Given the description of an element on the screen output the (x, y) to click on. 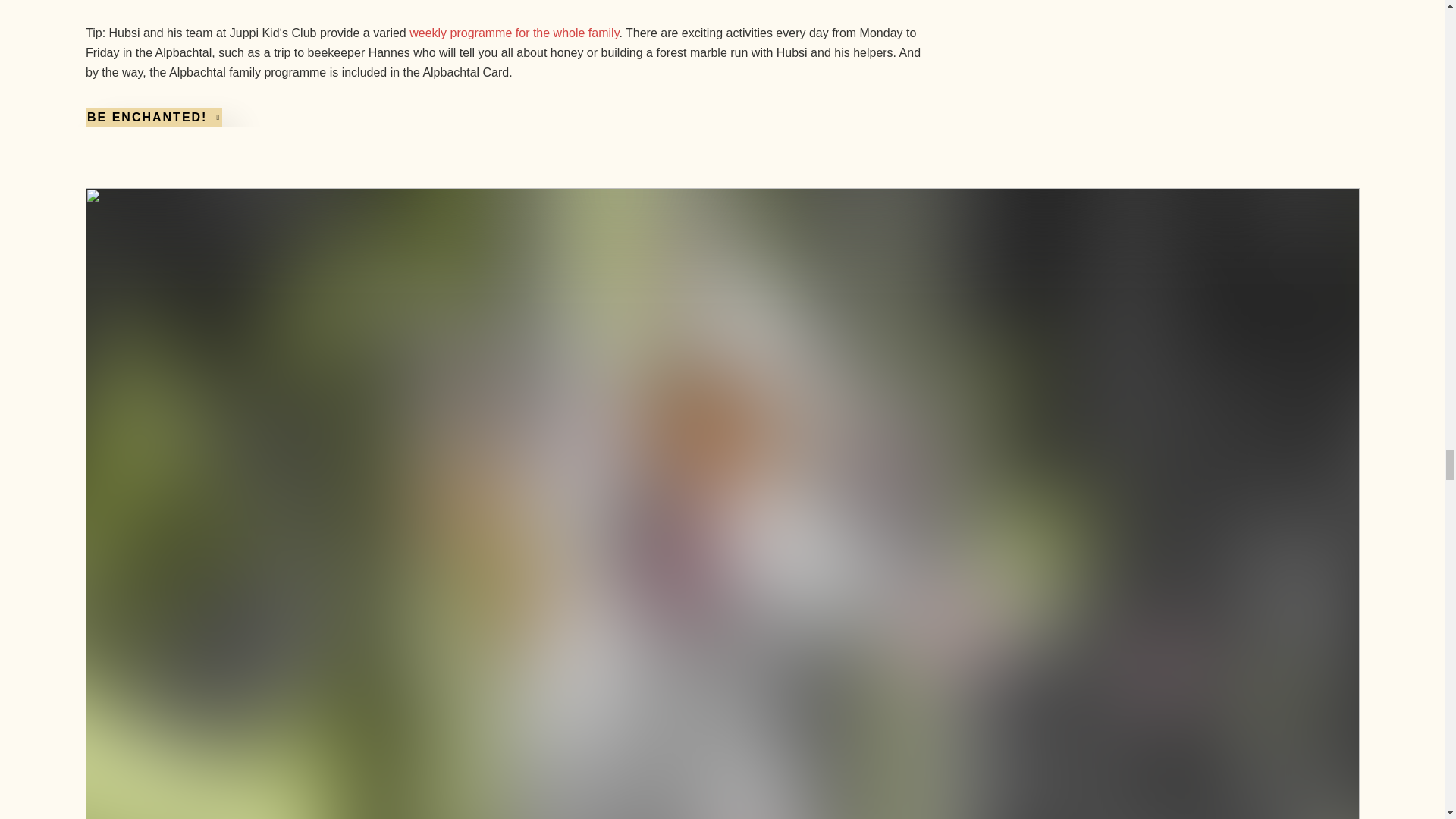
BE ENCHANTED! (152, 117)
weekly programme for the whole family (513, 32)
